Given the description of an element on the screen output the (x, y) to click on. 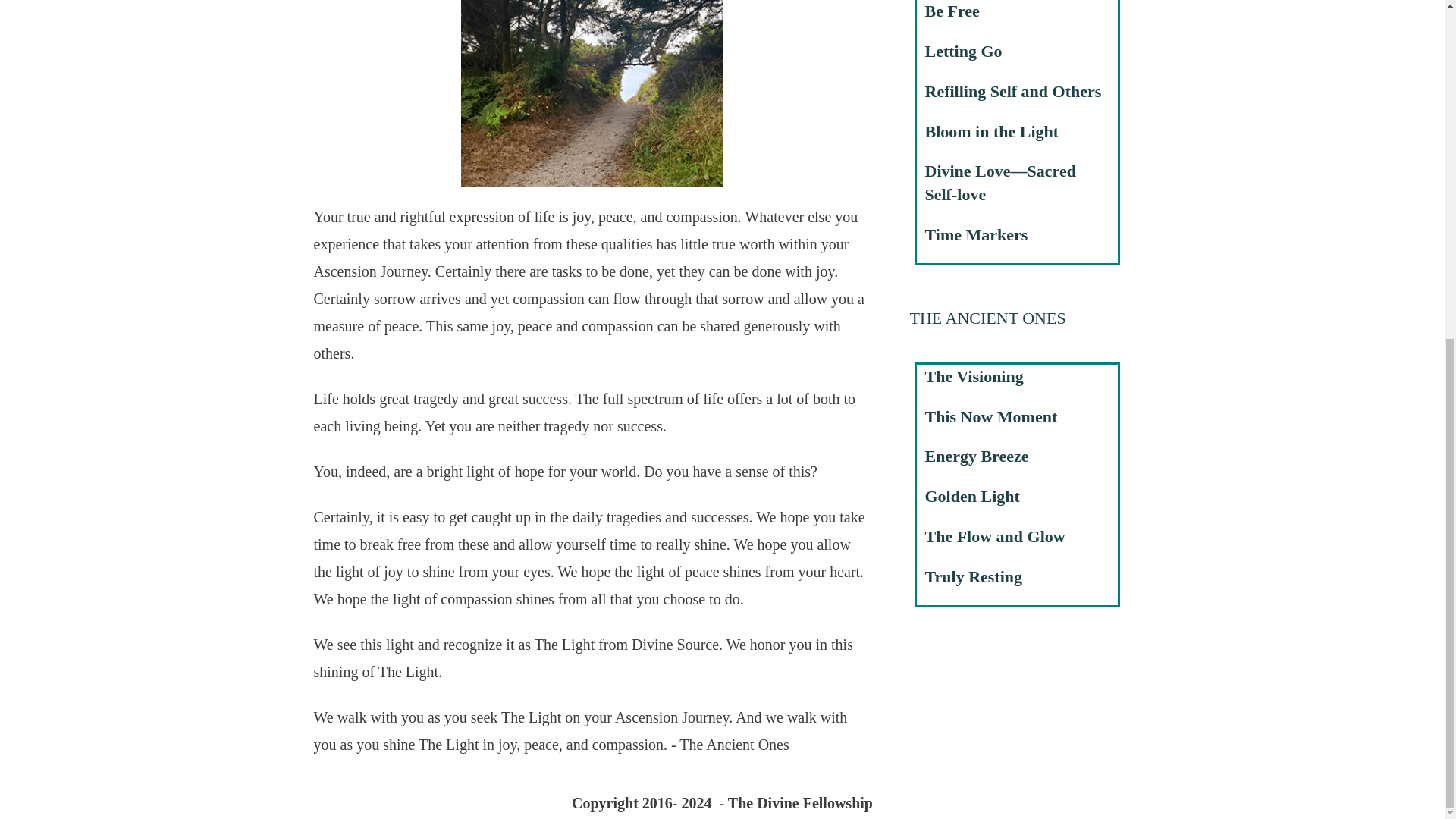
This Now Moment (991, 416)
The Visioning (973, 375)
The Flow and Glow (994, 536)
Golden Light (972, 496)
Energy Breeze (976, 456)
Be Free (951, 10)
This Now Moment (991, 416)
Golden Light (972, 496)
The Visioning (973, 375)
Adventure Begins (591, 93)
Energy Breeze (976, 456)
Refilling Self and Others (1013, 90)
Time Markers (975, 234)
Refilling Self and Others (1013, 90)
Bloom in the Light (991, 131)
